Given the description of an element on the screen output the (x, y) to click on. 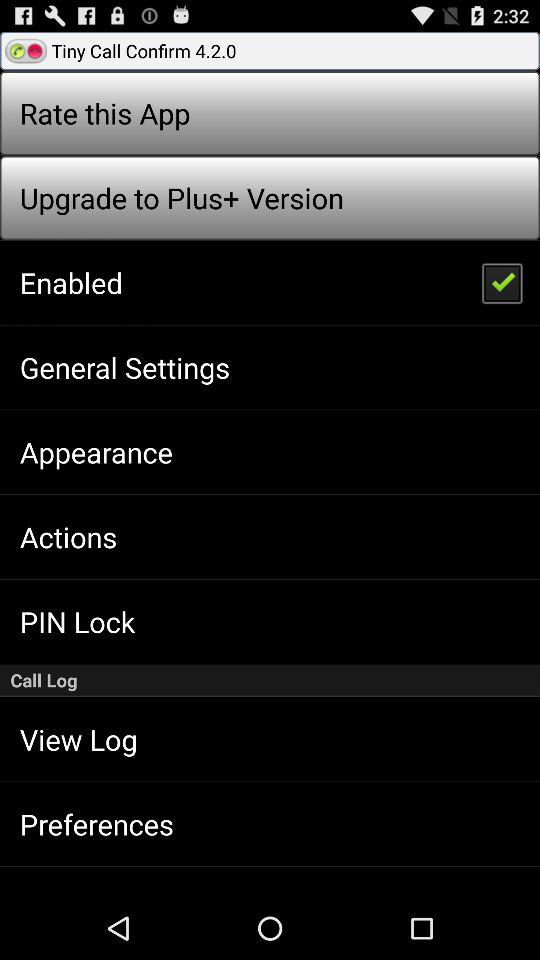
turn off enabled item (70, 282)
